Given the description of an element on the screen output the (x, y) to click on. 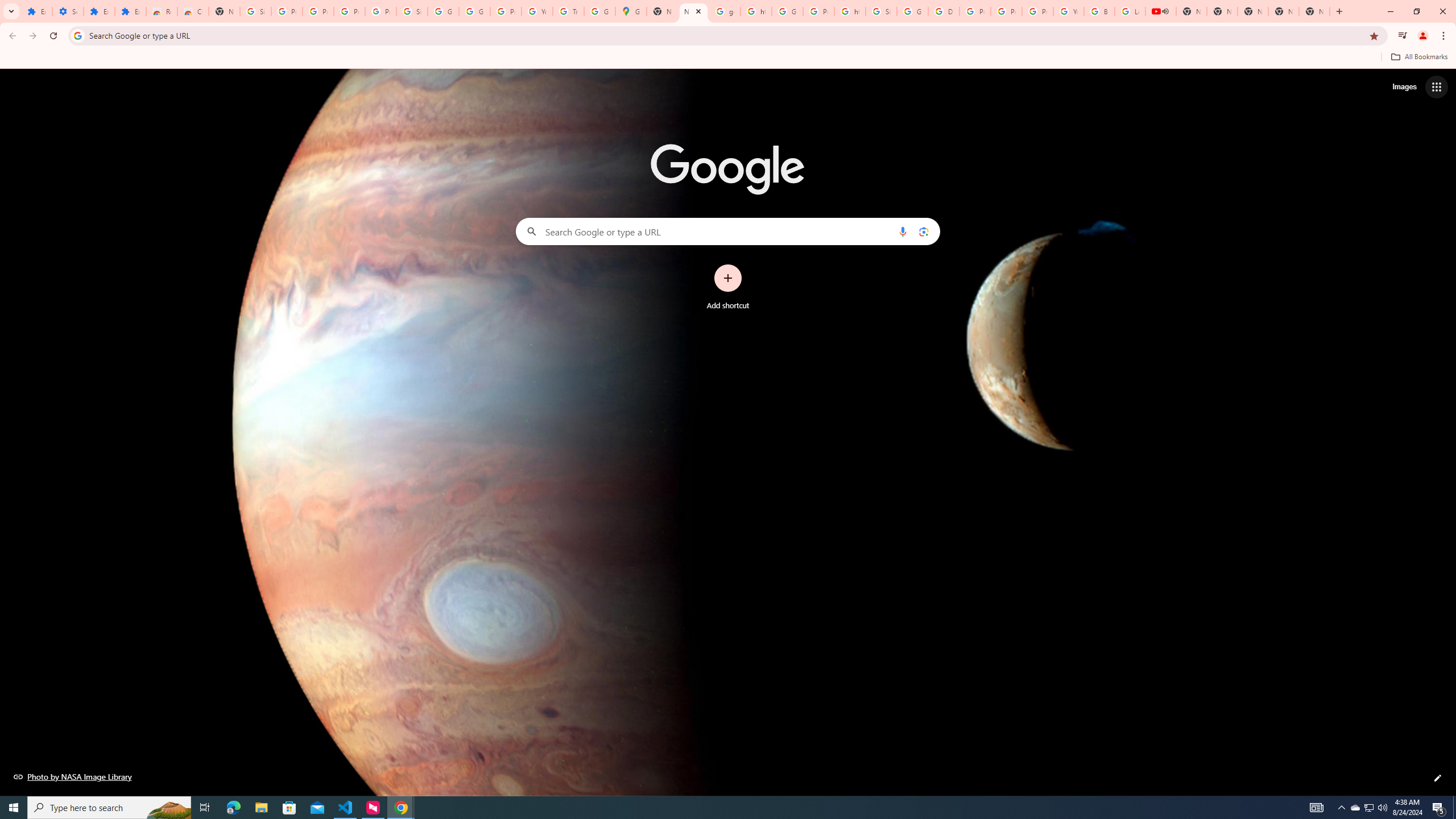
https://scholar.google.com/ (756, 11)
Customize this page (1437, 778)
Mute tab (1165, 10)
Search by voice (902, 230)
Photo by NASA Image Library (72, 776)
YouTube (536, 11)
YouTube (1068, 11)
Settings (67, 11)
Control your music, videos, and more (1402, 35)
